Given the description of an element on the screen output the (x, y) to click on. 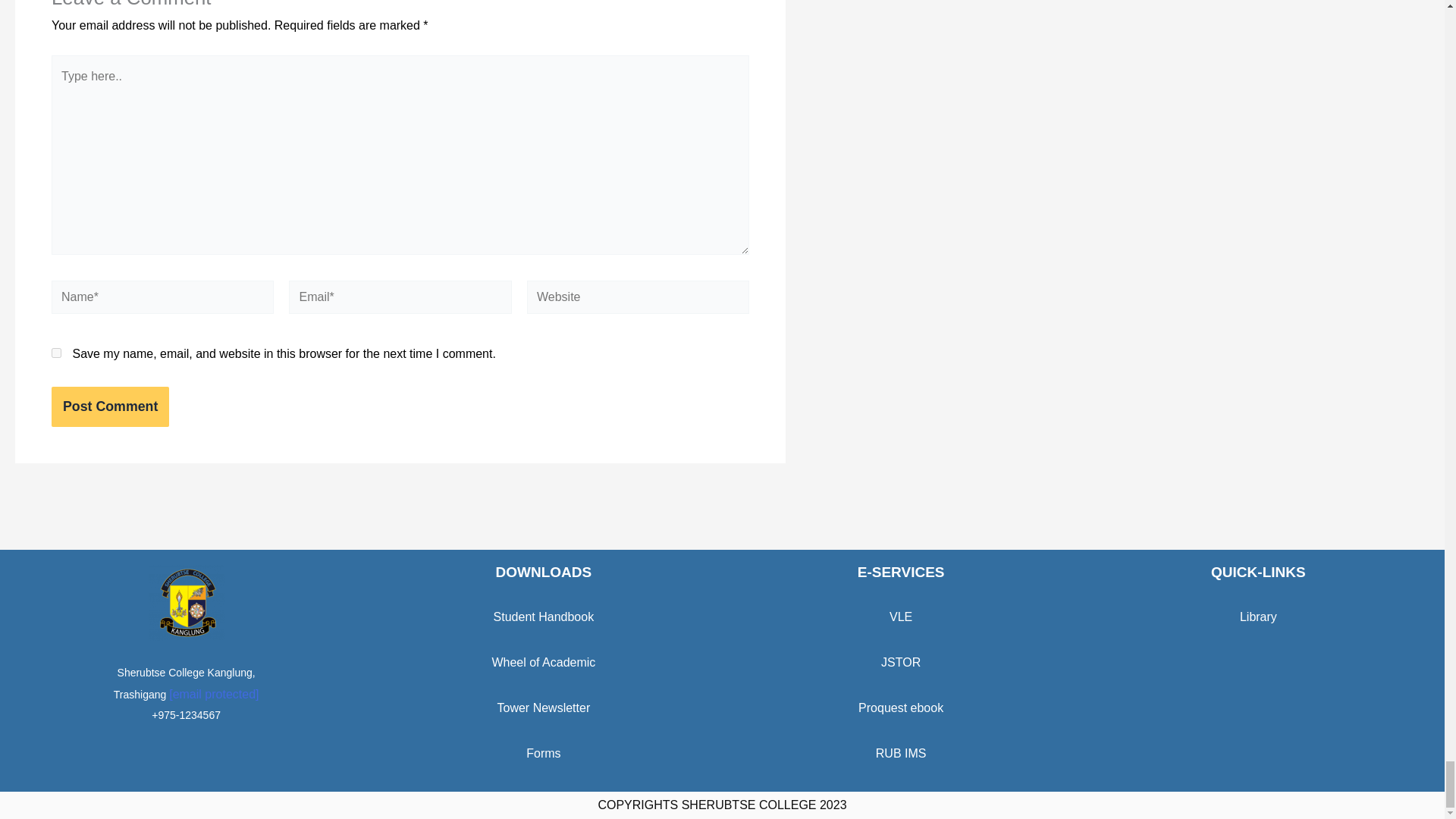
yes (55, 352)
Post Comment (109, 406)
